Given the description of an element on the screen output the (x, y) to click on. 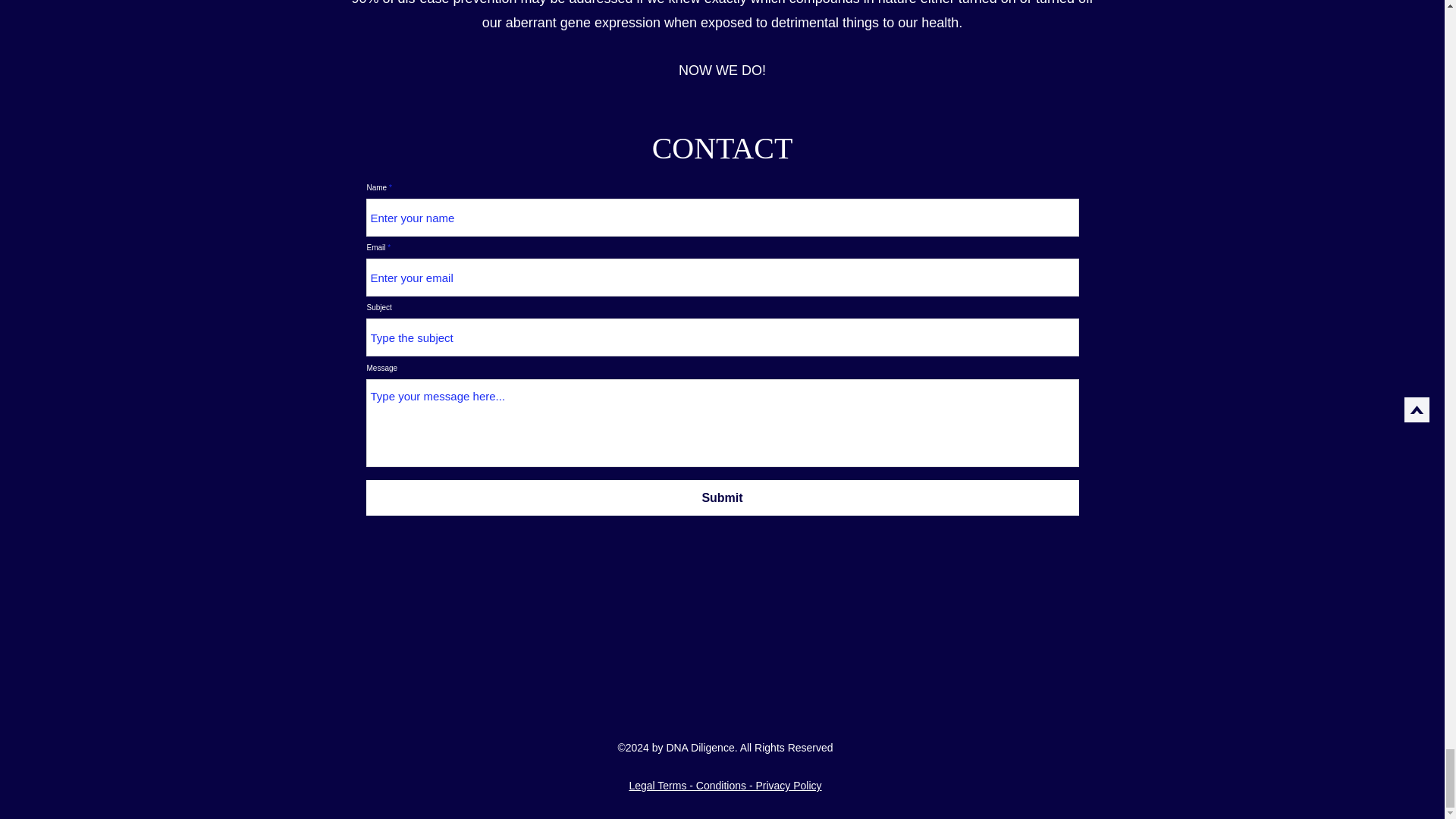
Submit (721, 497)
Legal Terms - Conditions - Privacy Policy (724, 785)
